Given the description of an element on the screen output the (x, y) to click on. 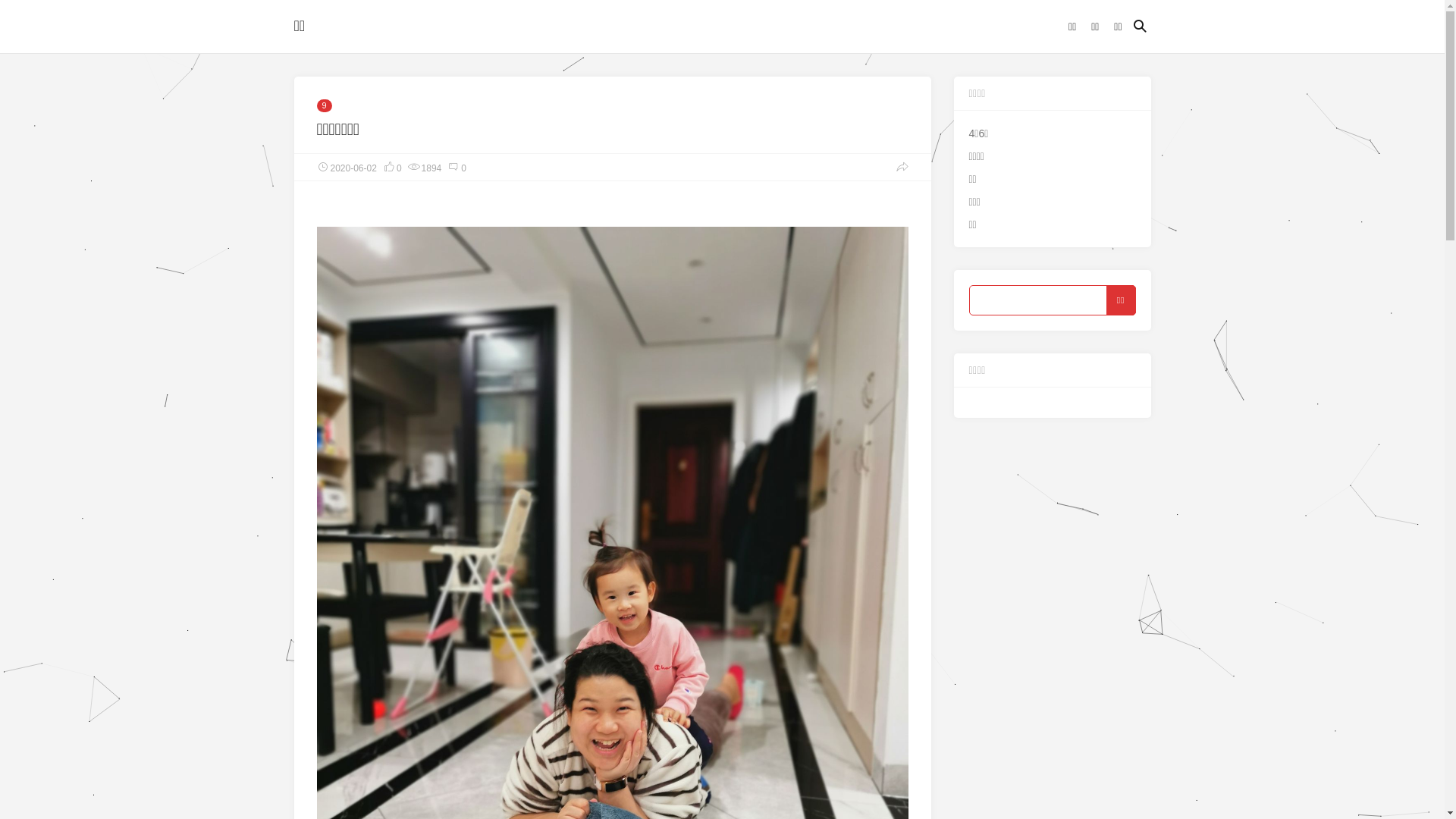
9 Element type: text (324, 105)
1894 Element type: text (424, 166)
0 Element type: text (456, 166)
2020-06-02 Element type: text (346, 166)
0 Element type: text (391, 166)
